Given the description of an element on the screen output the (x, y) to click on. 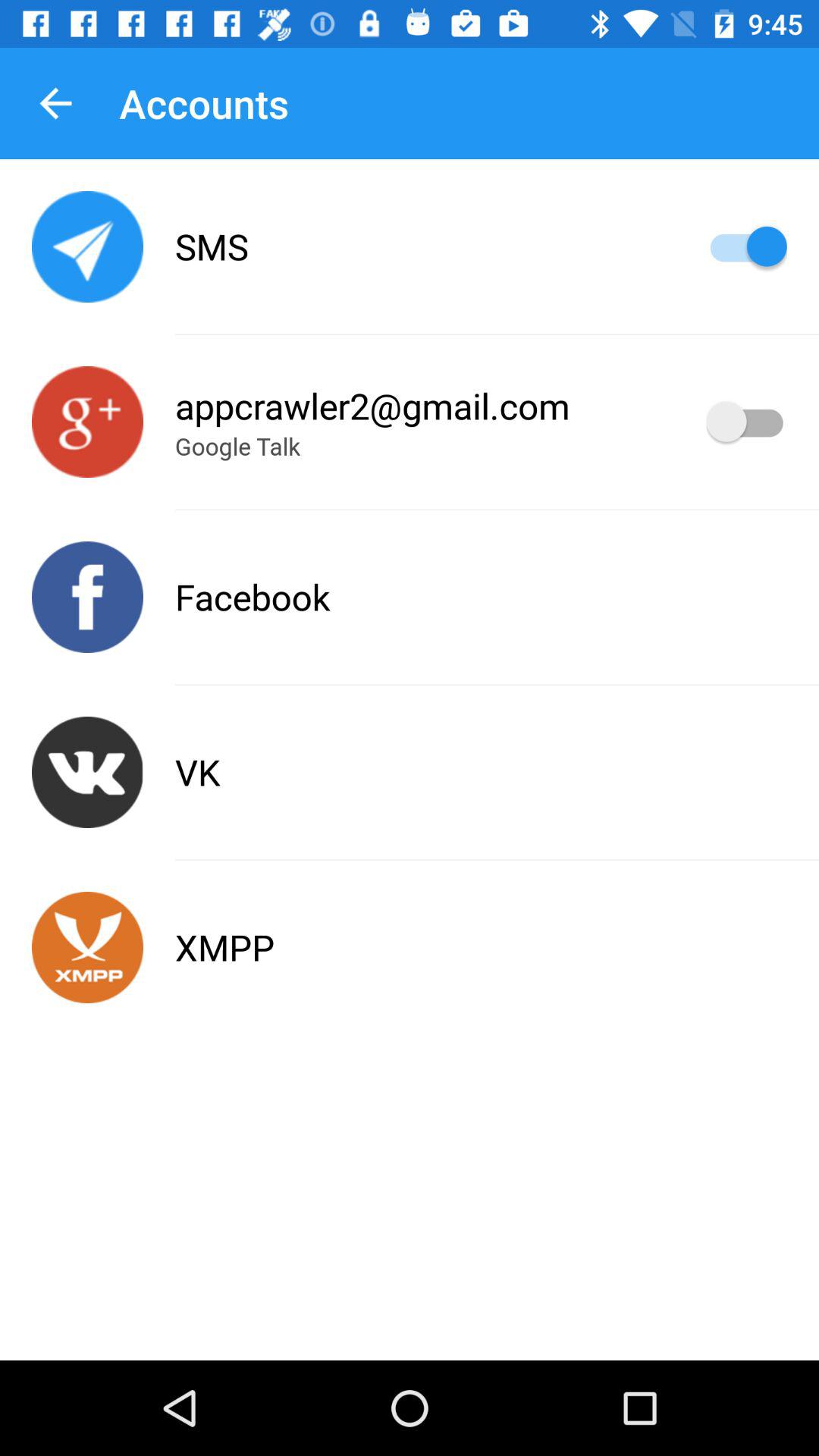
turn on gmail account for this device (746, 421)
